Given the description of an element on the screen output the (x, y) to click on. 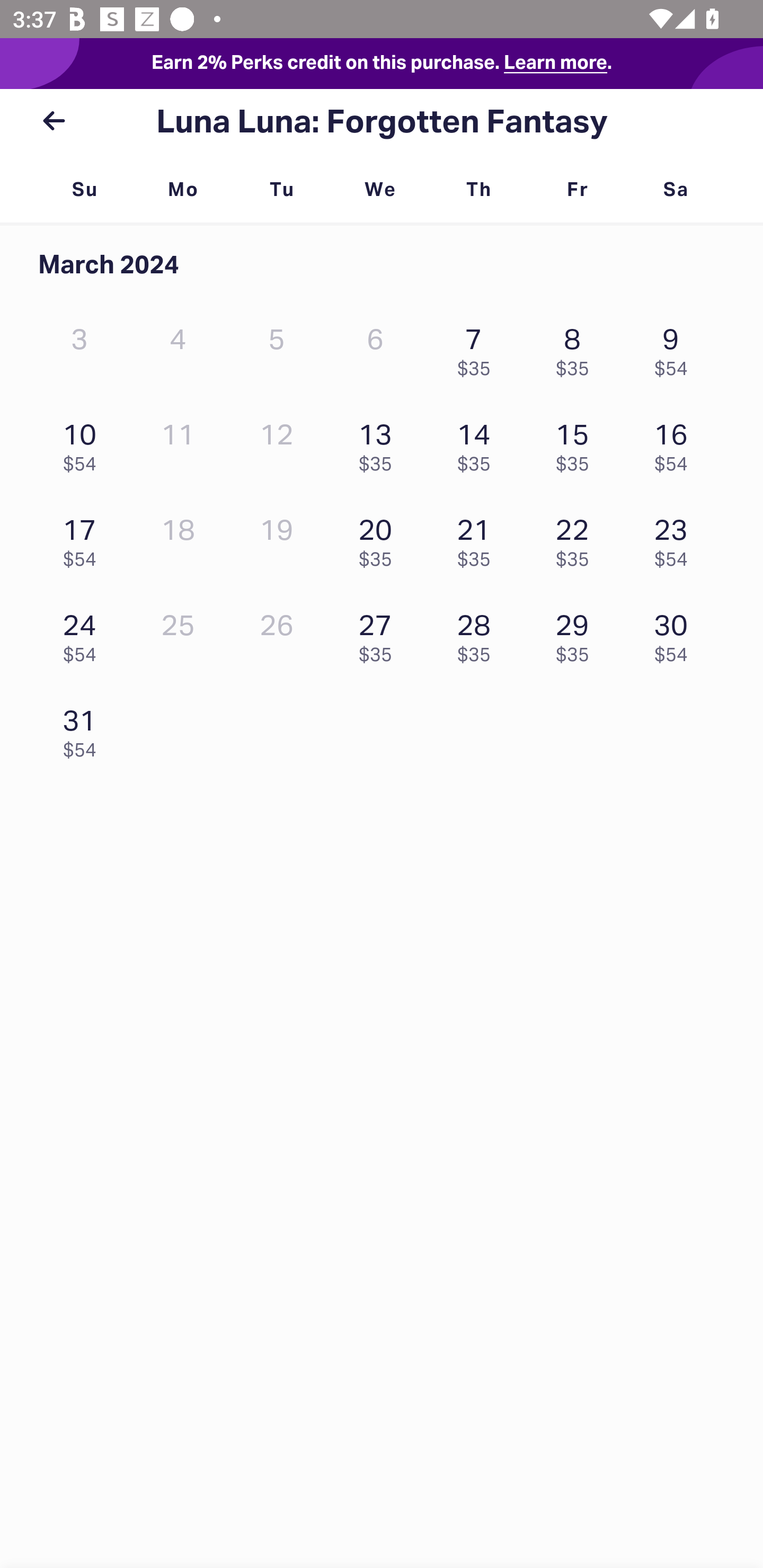
Earn 2% Perks credit on this purchase. Learn more. (381, 63)
back button (53, 120)
7 $35 (478, 347)
8 $35 (577, 347)
9 $54 (675, 347)
10 $54 (84, 442)
13 $35 (379, 442)
14 $35 (478, 442)
15 $35 (577, 442)
16 $54 (675, 442)
17 $54 (84, 538)
20 $35 (379, 538)
21 $35 (478, 538)
22 $35 (577, 538)
23 $54 (675, 538)
24 $54 (84, 633)
27 $35 (379, 633)
28 $35 (478, 633)
29 $35 (577, 633)
30 $54 (675, 633)
31 $54 (84, 728)
